Given the description of an element on the screen output the (x, y) to click on. 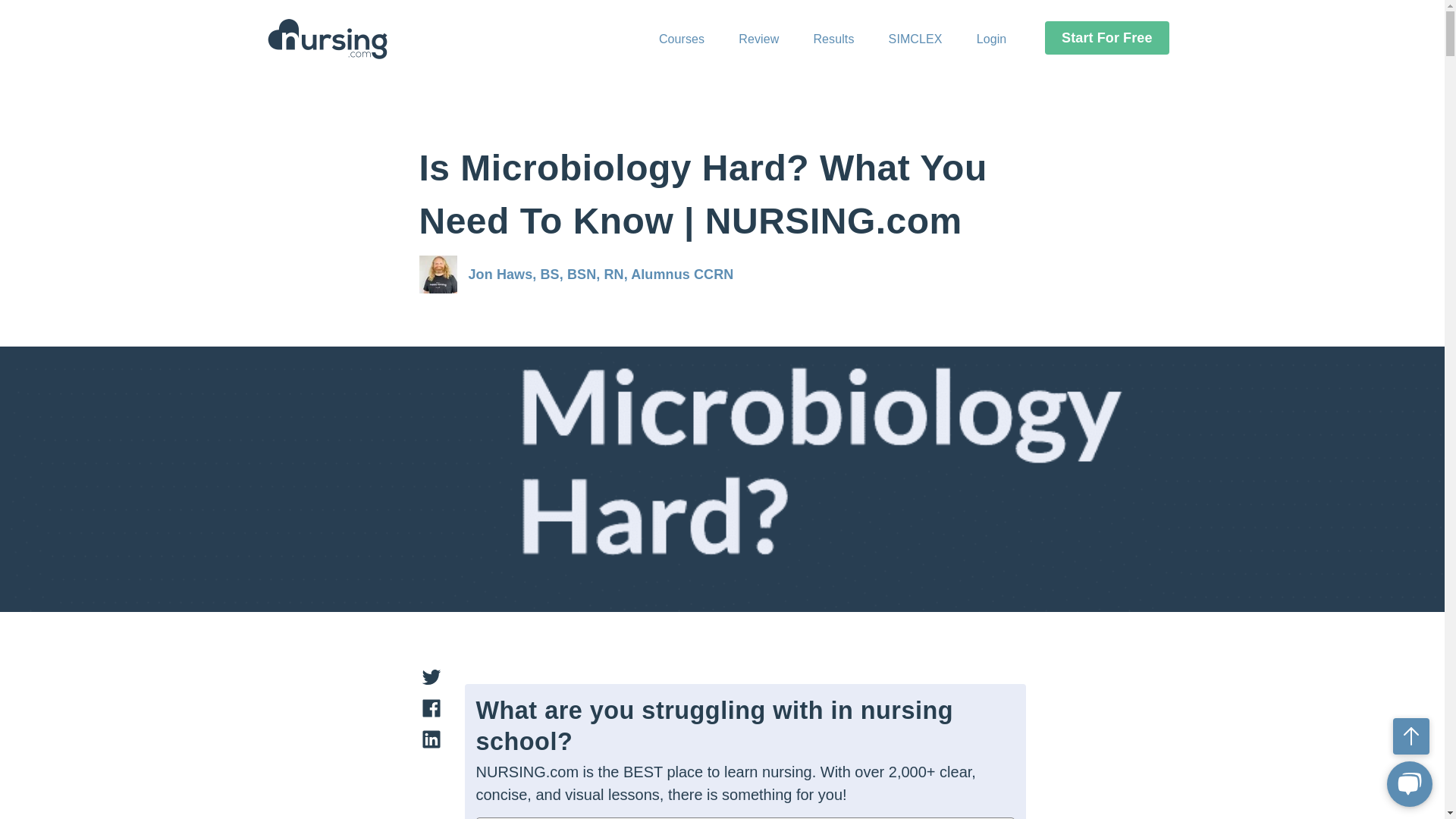
Review (758, 38)
Results (832, 38)
Start For Free (1107, 37)
SIMCLEX (915, 38)
Courses (681, 38)
Login (991, 38)
Jon Haws, BS, BSN, RN, Alumnus CCRN (600, 273)
